Given the description of an element on the screen output the (x, y) to click on. 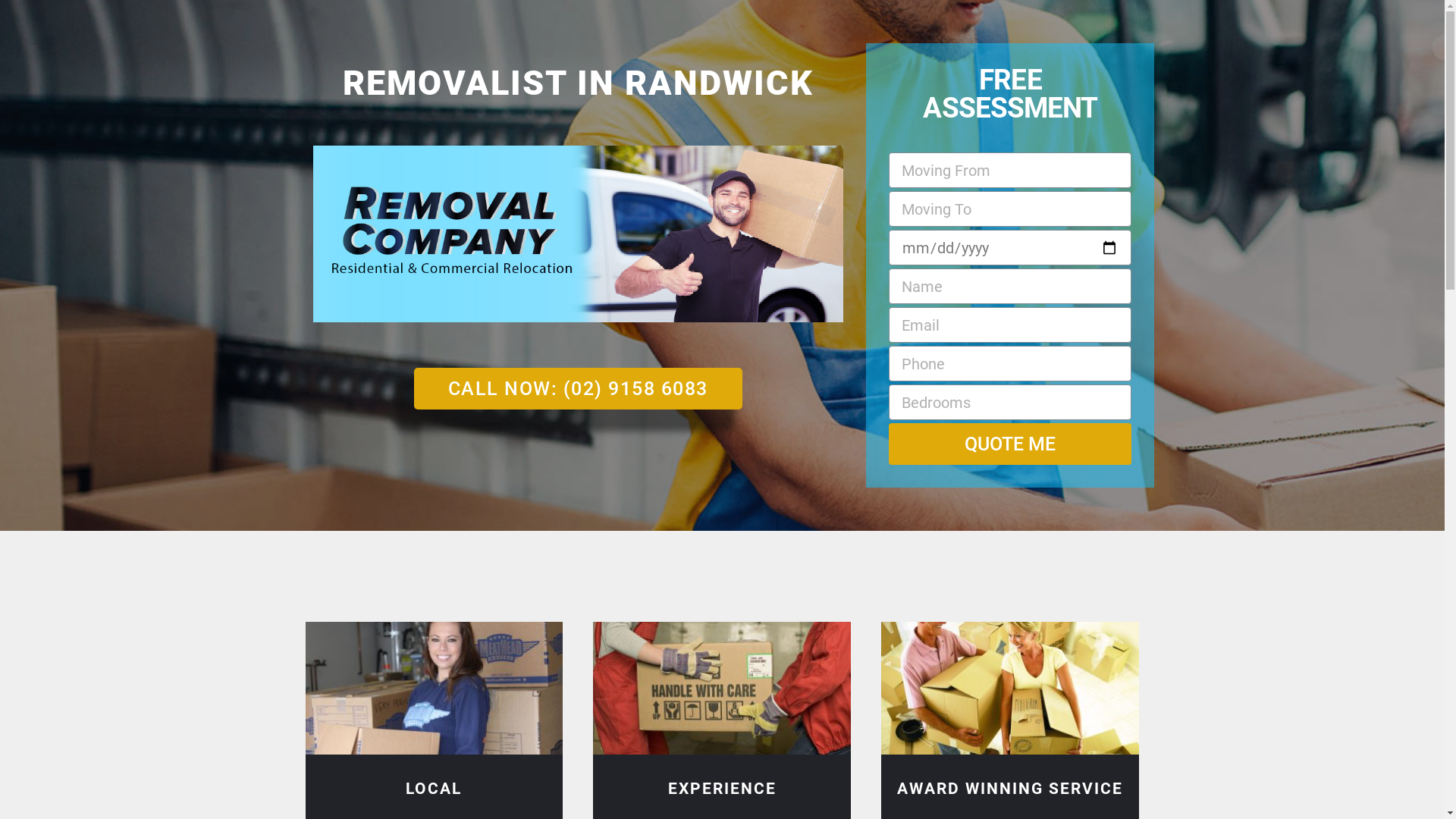
CALL NOW: (02) 9158 6083 Element type: text (578, 388)
Experienced Removalists Randwick Element type: hover (721, 687)
Award Winning Removal Services Randwick Element type: hover (1010, 687)
QUOTE ME Element type: text (1009, 443)
Local Removalists Randwick Element type: hover (433, 687)
